Given the description of an element on the screen output the (x, y) to click on. 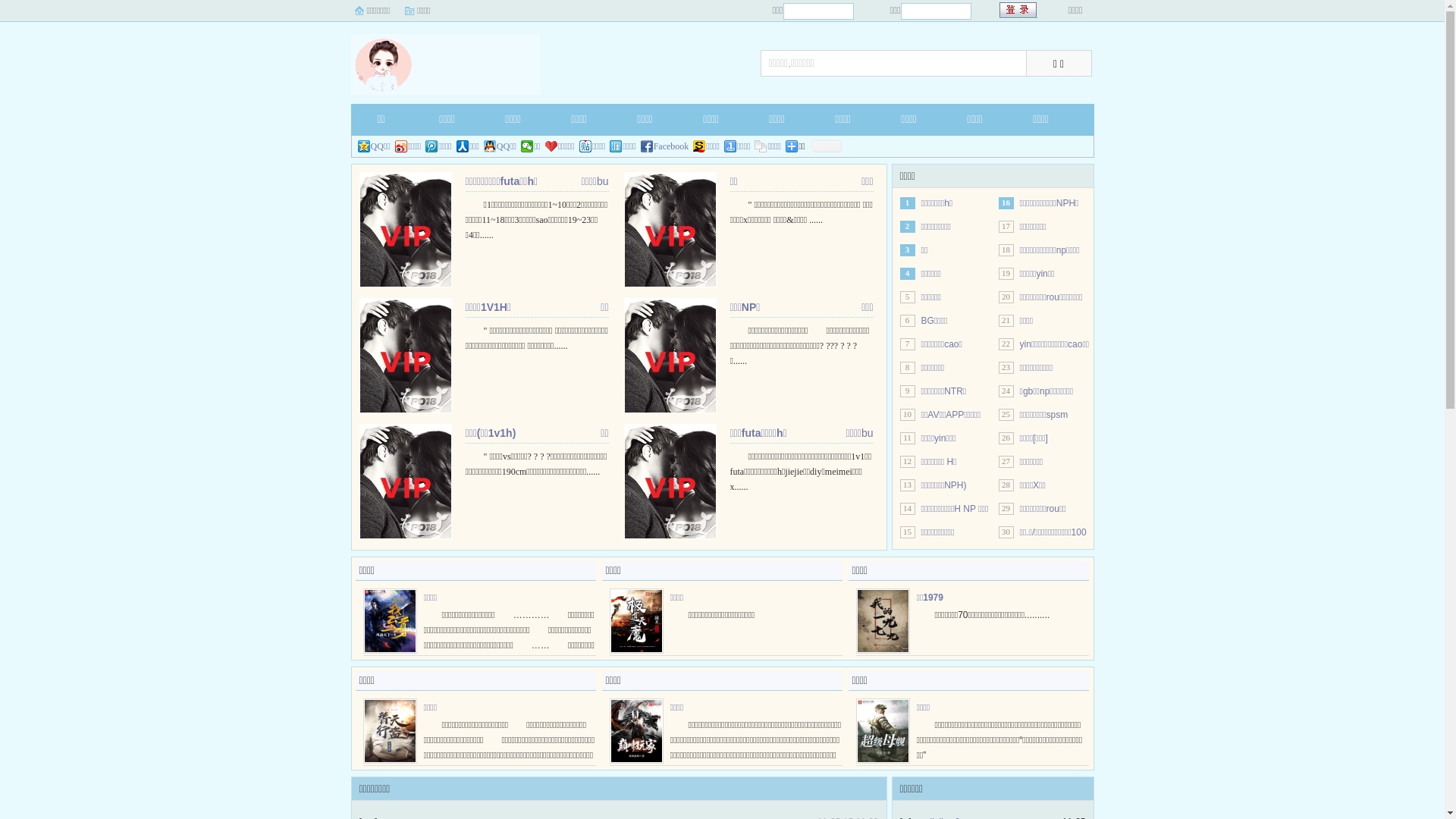
Facebook Element type: text (664, 146)
